Given the description of an element on the screen output the (x, y) to click on. 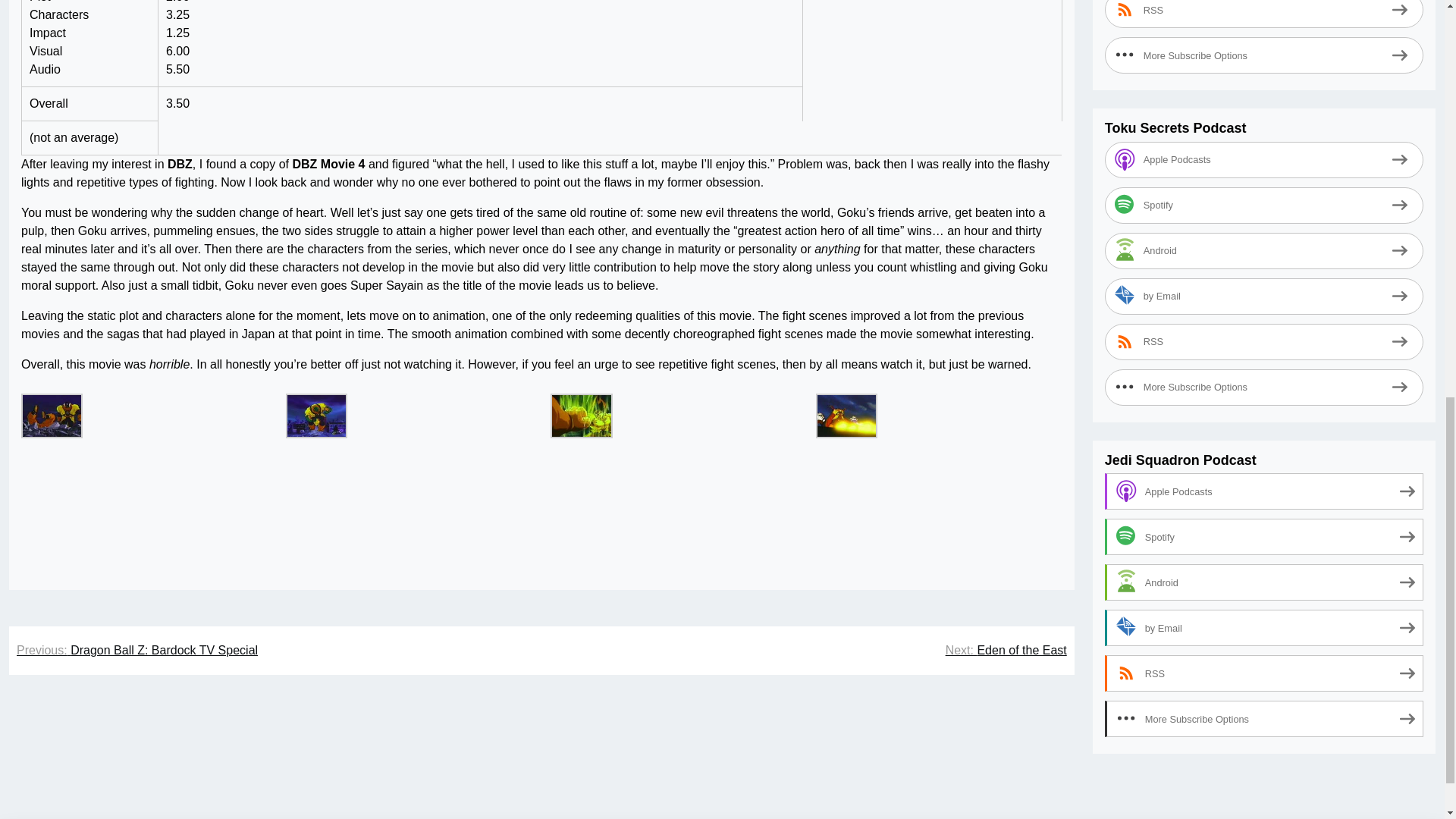
Subscribe on Android (1264, 564)
More Subscribe Options (1264, 369)
Subscribe on Apple Podcasts (1264, 473)
Subscribe on Spotify (1264, 186)
Subscribe on Android (1264, 232)
Subscribe by Email (1264, 278)
Subscribe on Apple Podcasts (1264, 141)
Subscribe via RSS (1264, 4)
Subscribe via RSS (1264, 323)
More Subscribe Options (1264, 36)
Subscribe on Spotify (1264, 518)
